Given the description of an element on the screen output the (x, y) to click on. 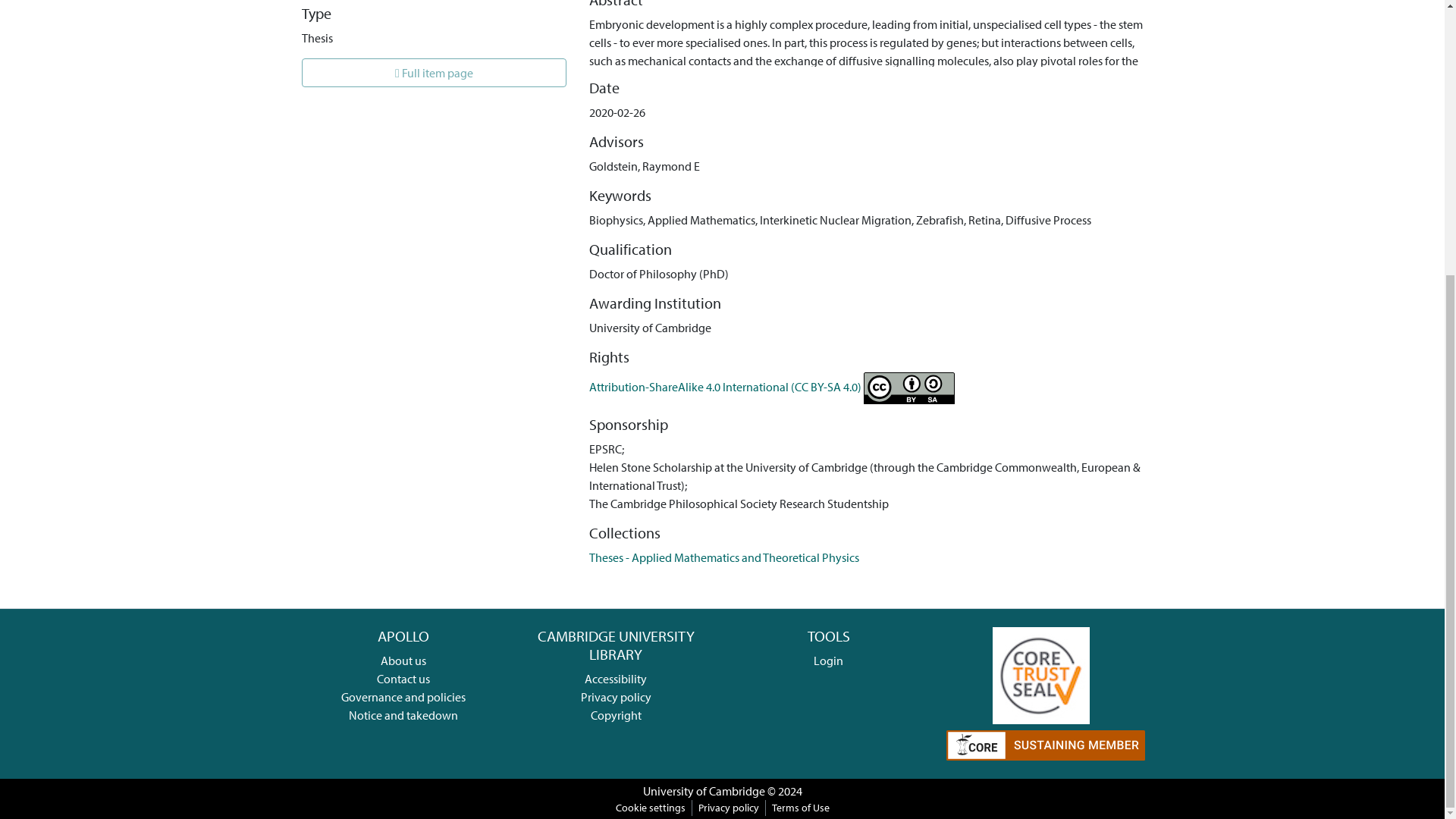
Contact us (403, 678)
About us (403, 660)
Full item page (434, 72)
Login (828, 660)
Apollo CTS full application (1040, 673)
Copyright (616, 714)
Privacy policy (615, 696)
Notice and takedown (403, 714)
Accessibility (615, 678)
Theses - Applied Mathematics and Theoretical Physics (724, 557)
Governance and policies (402, 696)
